Given the description of an element on the screen output the (x, y) to click on. 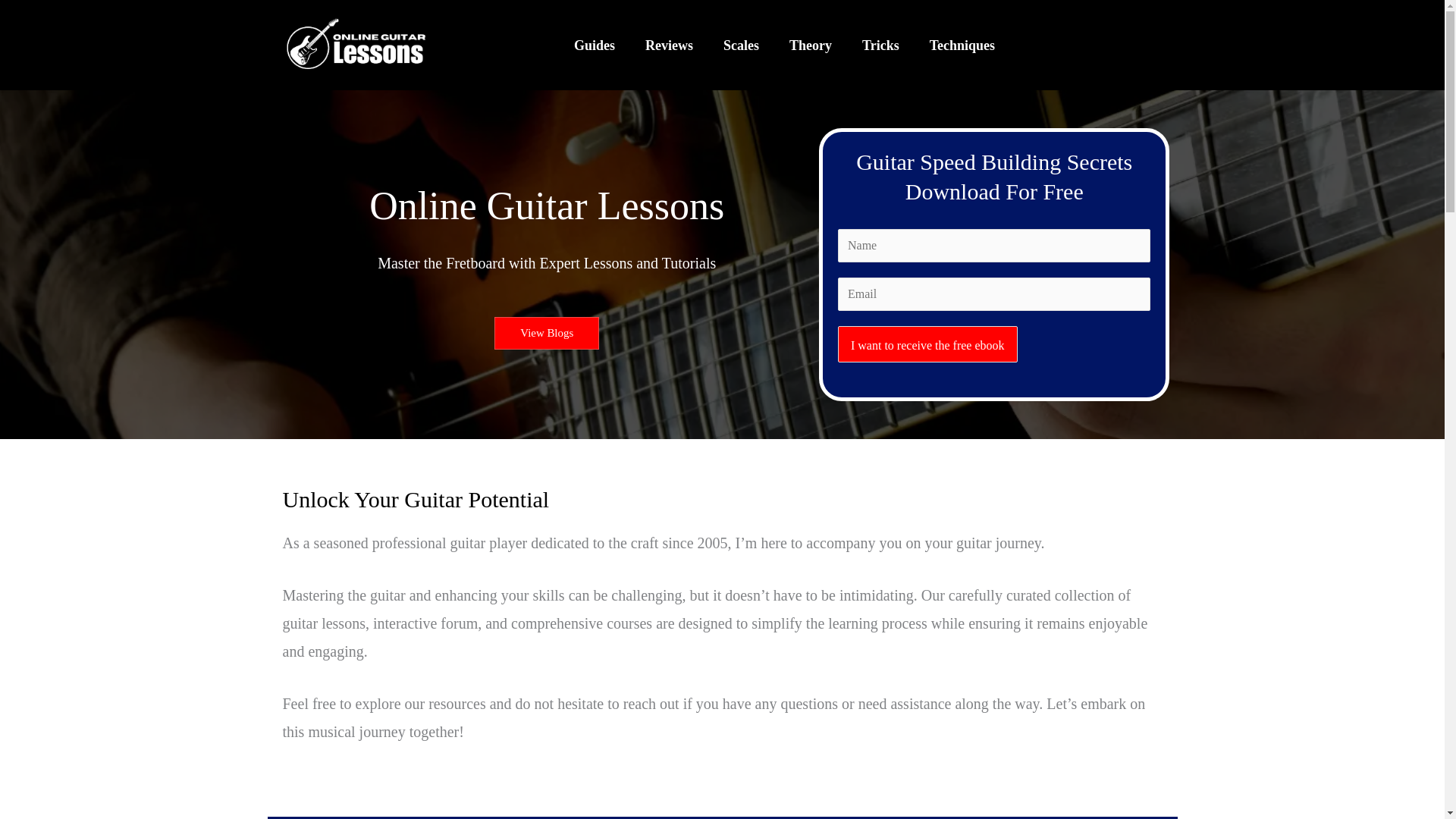
View Blogs (546, 332)
I want to receive the free ebook (927, 343)
Scales (740, 44)
Guides (594, 44)
Theory (810, 44)
Reviews (668, 44)
Techniques (962, 44)
Tricks (880, 44)
